Given the description of an element on the screen output the (x, y) to click on. 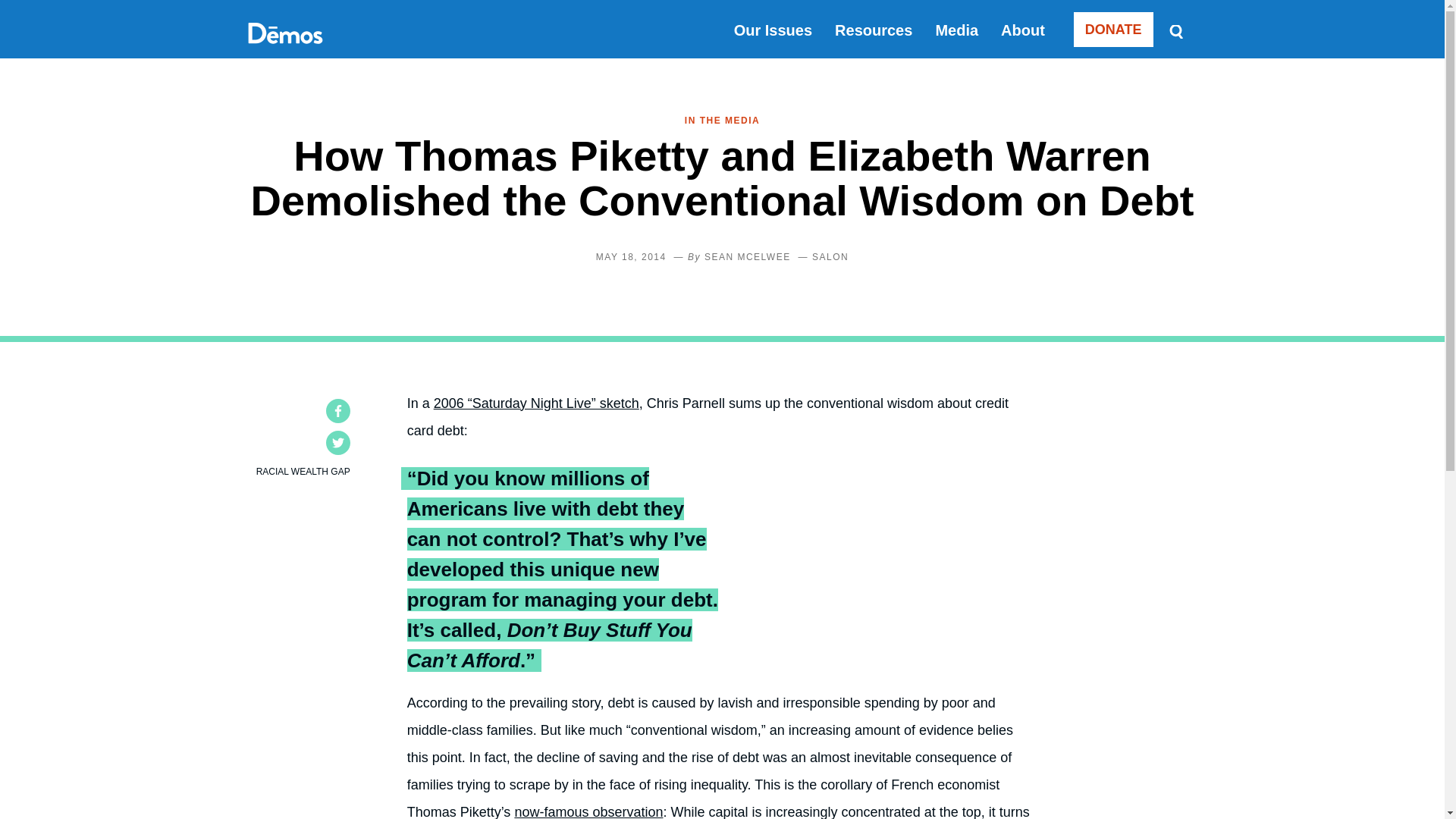
Our Issues (772, 30)
Media (956, 30)
RACIAL WEALTH GAP (303, 471)
now-famous observation (587, 811)
About (1023, 30)
Twitter (338, 442)
Search (1176, 30)
Search (1176, 30)
Resources (873, 30)
SALON (830, 256)
Facebook (338, 410)
Home (284, 50)
DONATE (1113, 29)
